Given the description of an element on the screen output the (x, y) to click on. 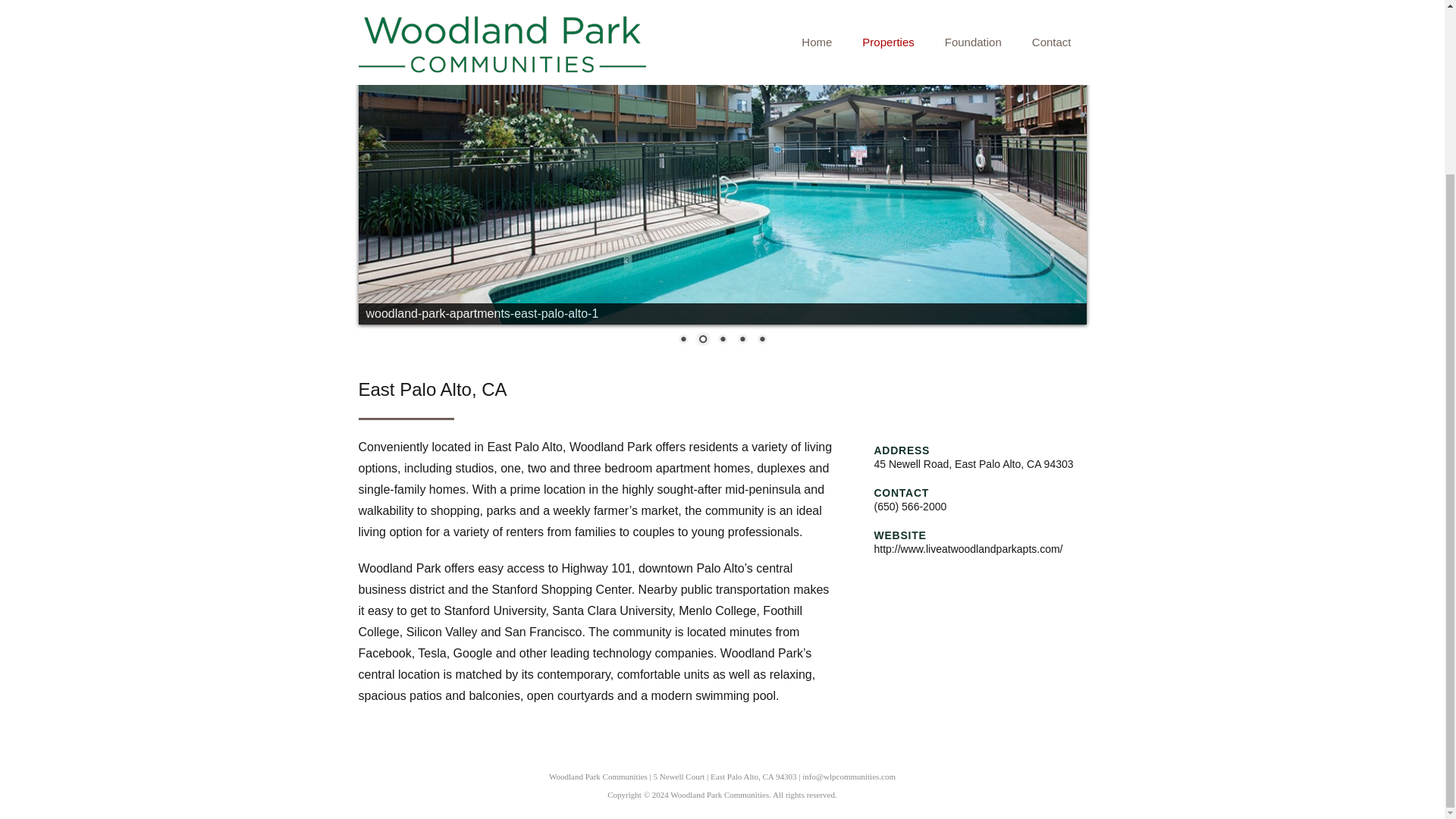
4 (742, 340)
2 (702, 340)
5 (762, 340)
1 (683, 340)
3 (722, 340)
